Given the description of an element on the screen output the (x, y) to click on. 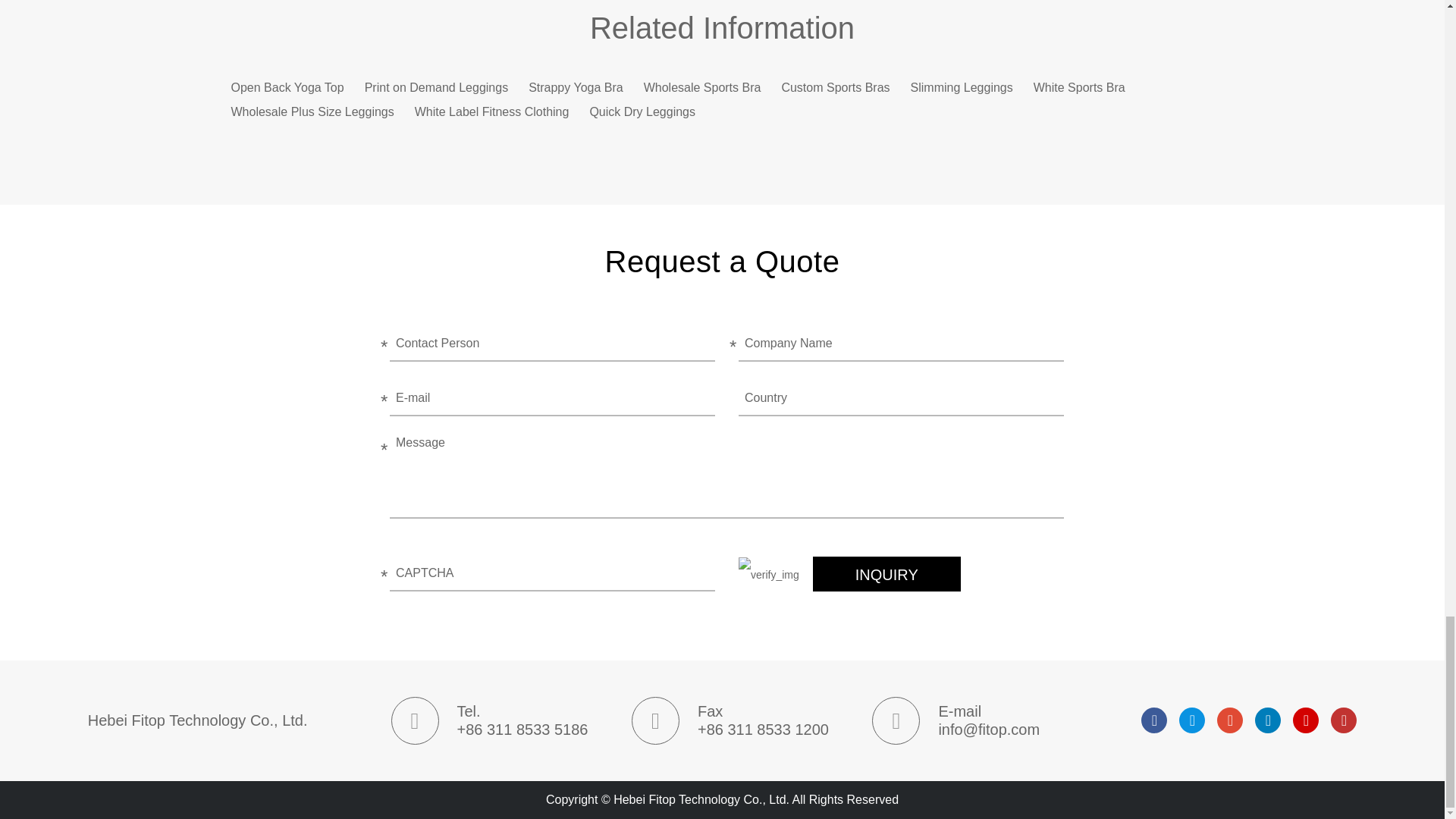
INQUIRY (886, 573)
